Given the description of an element on the screen output the (x, y) to click on. 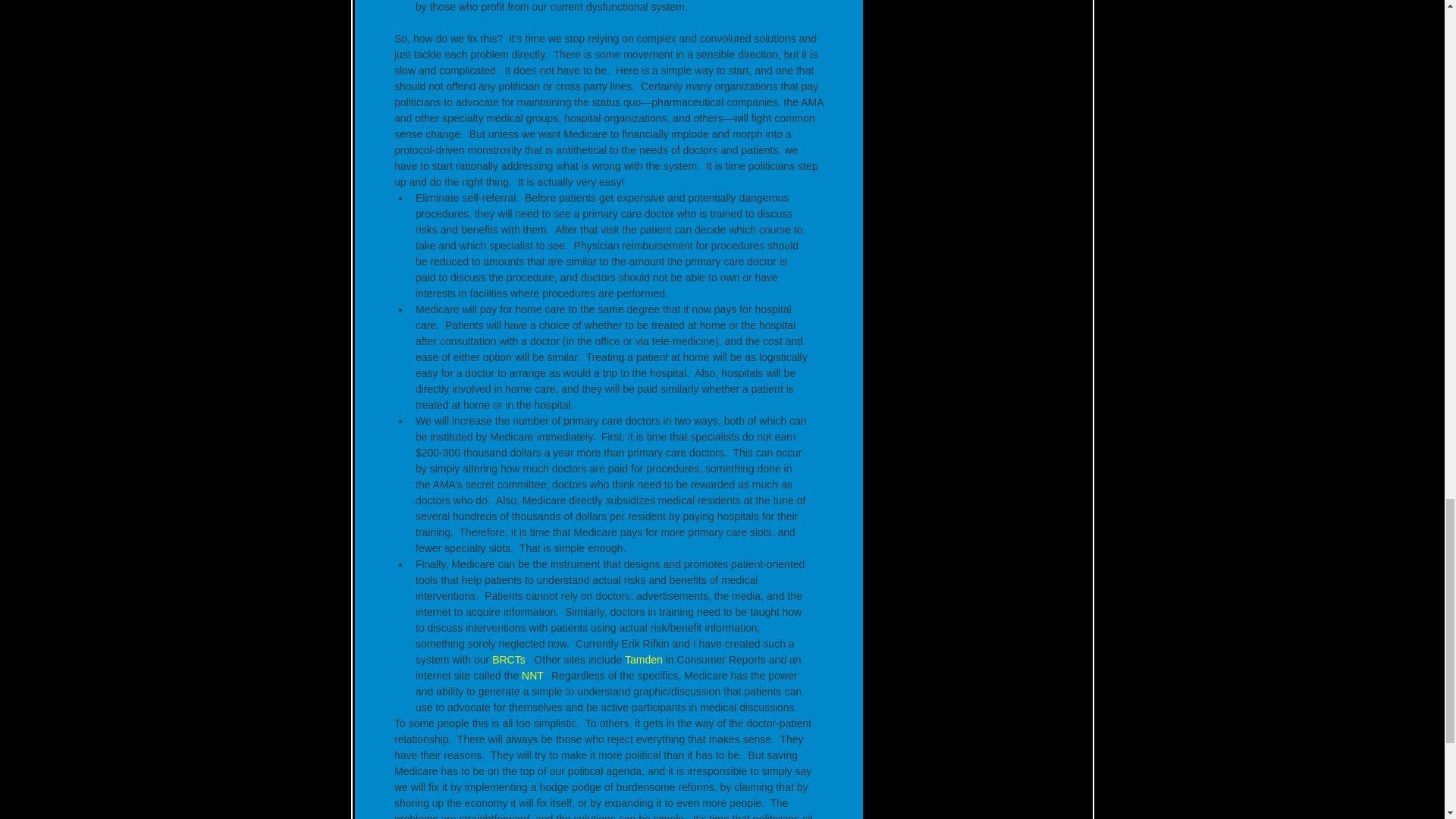
BRCTs (508, 659)
Tamden (643, 659)
NNT (531, 675)
